Given the description of an element on the screen output the (x, y) to click on. 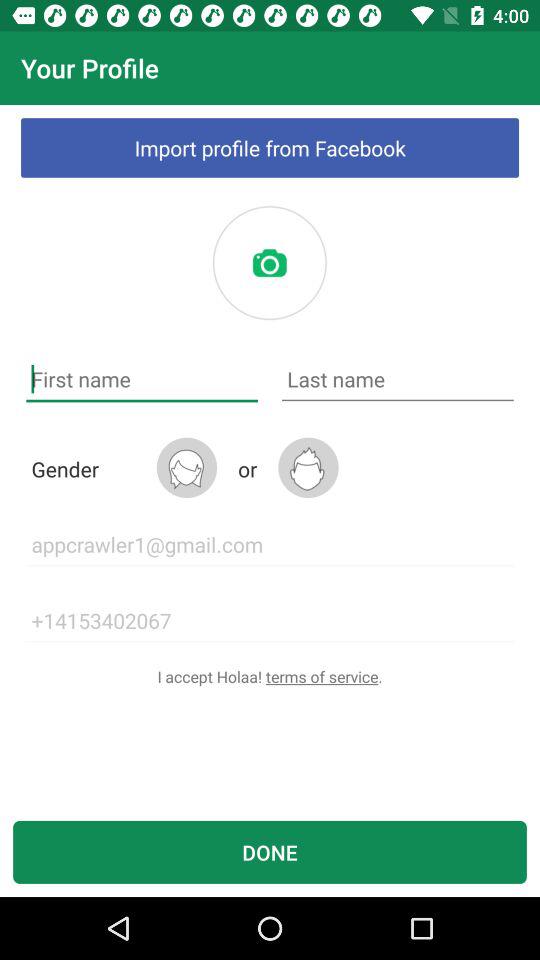
select male gender (308, 467)
